Given the description of an element on the screen output the (x, y) to click on. 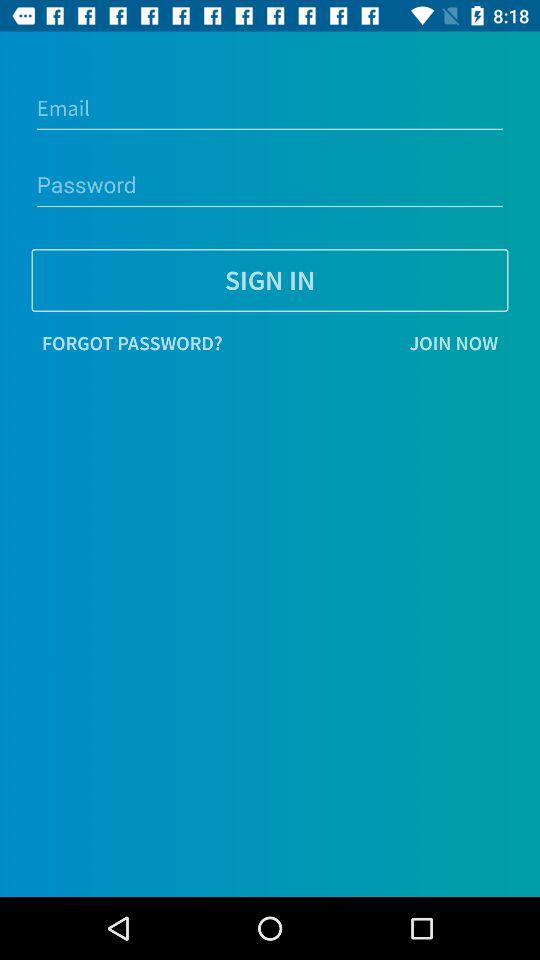
swipe until the sign in icon (269, 280)
